Given the description of an element on the screen output the (x, y) to click on. 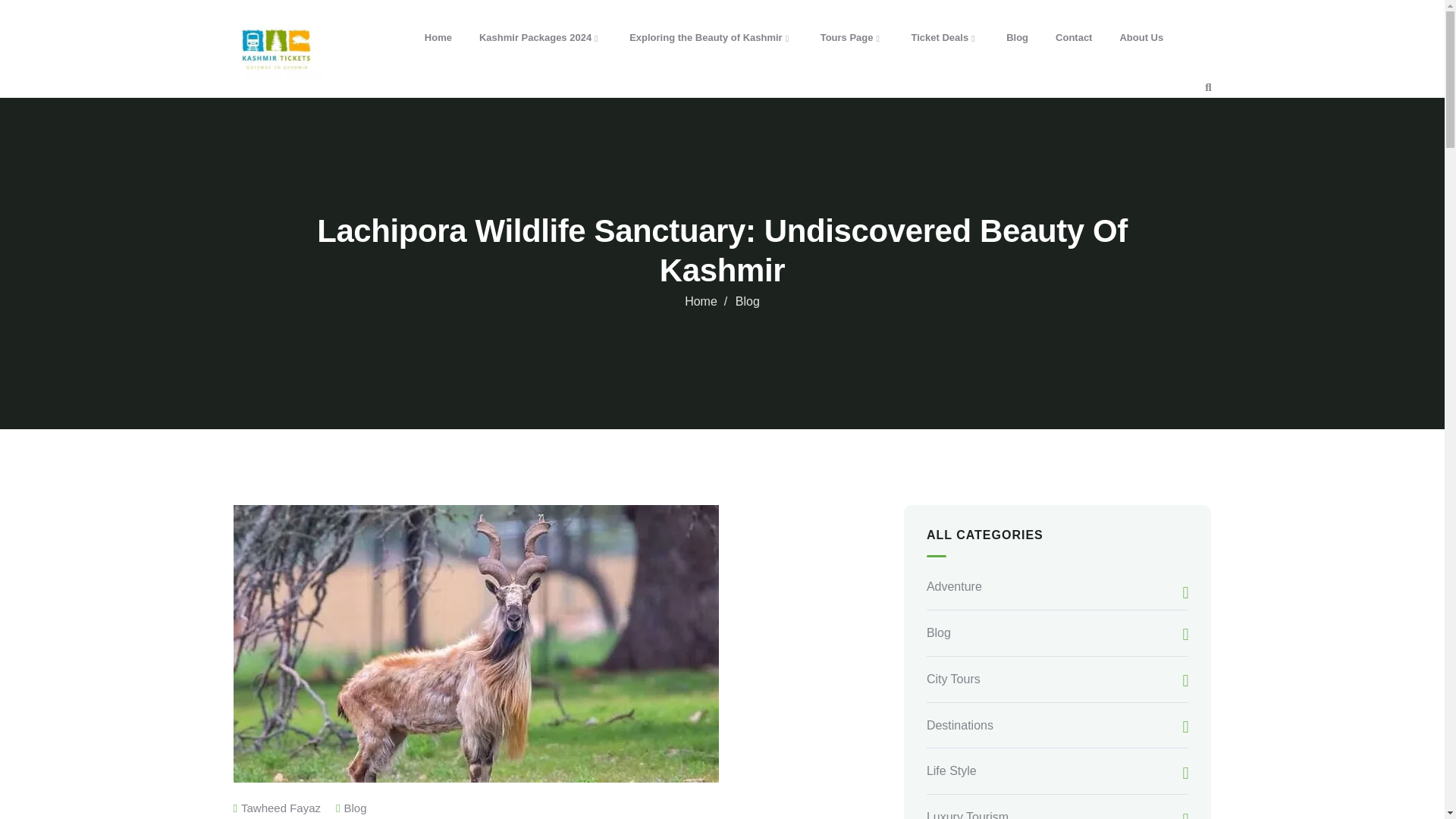
Kashmir Packages 2024 (540, 38)
Exploring the Beauty of Kashmir (710, 38)
Ticket Deals (945, 38)
Home (276, 48)
Tours Page (852, 38)
